Given the description of an element on the screen output the (x, y) to click on. 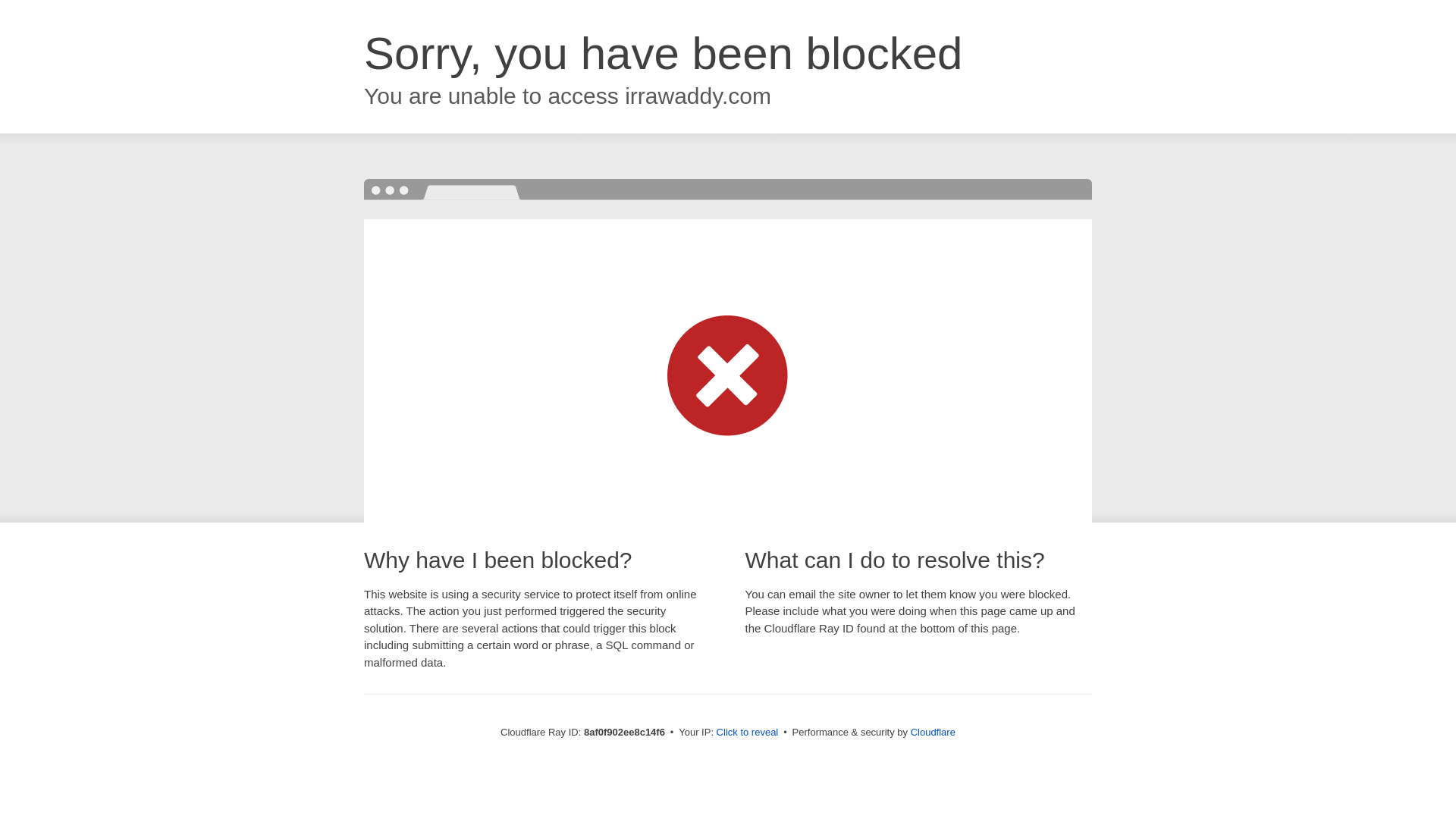
Click to reveal (747, 732)
Cloudflare (933, 731)
